Given the description of an element on the screen output the (x, y) to click on. 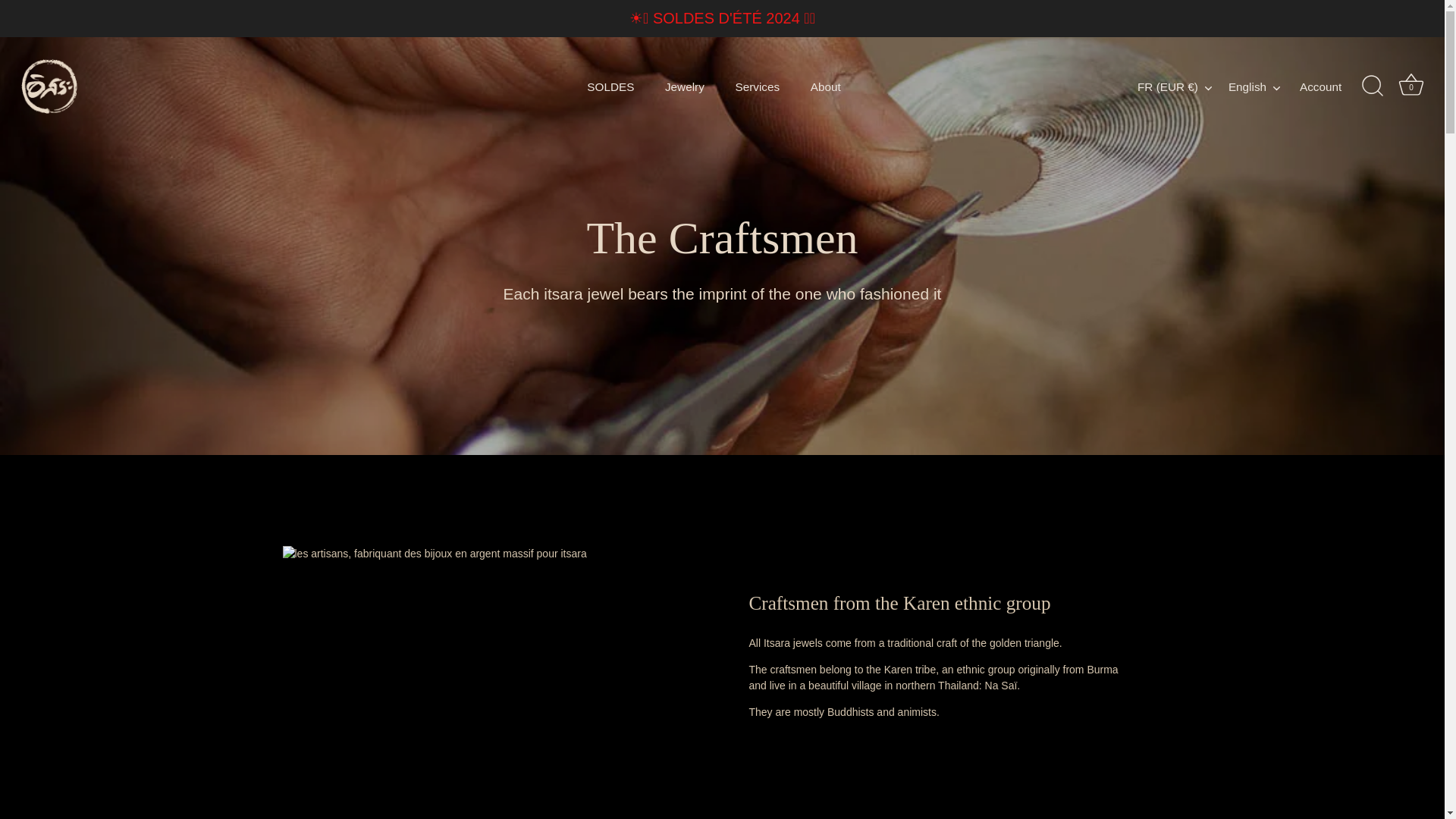
Jewelry (684, 85)
About (825, 85)
Basket (1410, 84)
SOLDES (610, 85)
Services (756, 85)
